Given the description of an element on the screen output the (x, y) to click on. 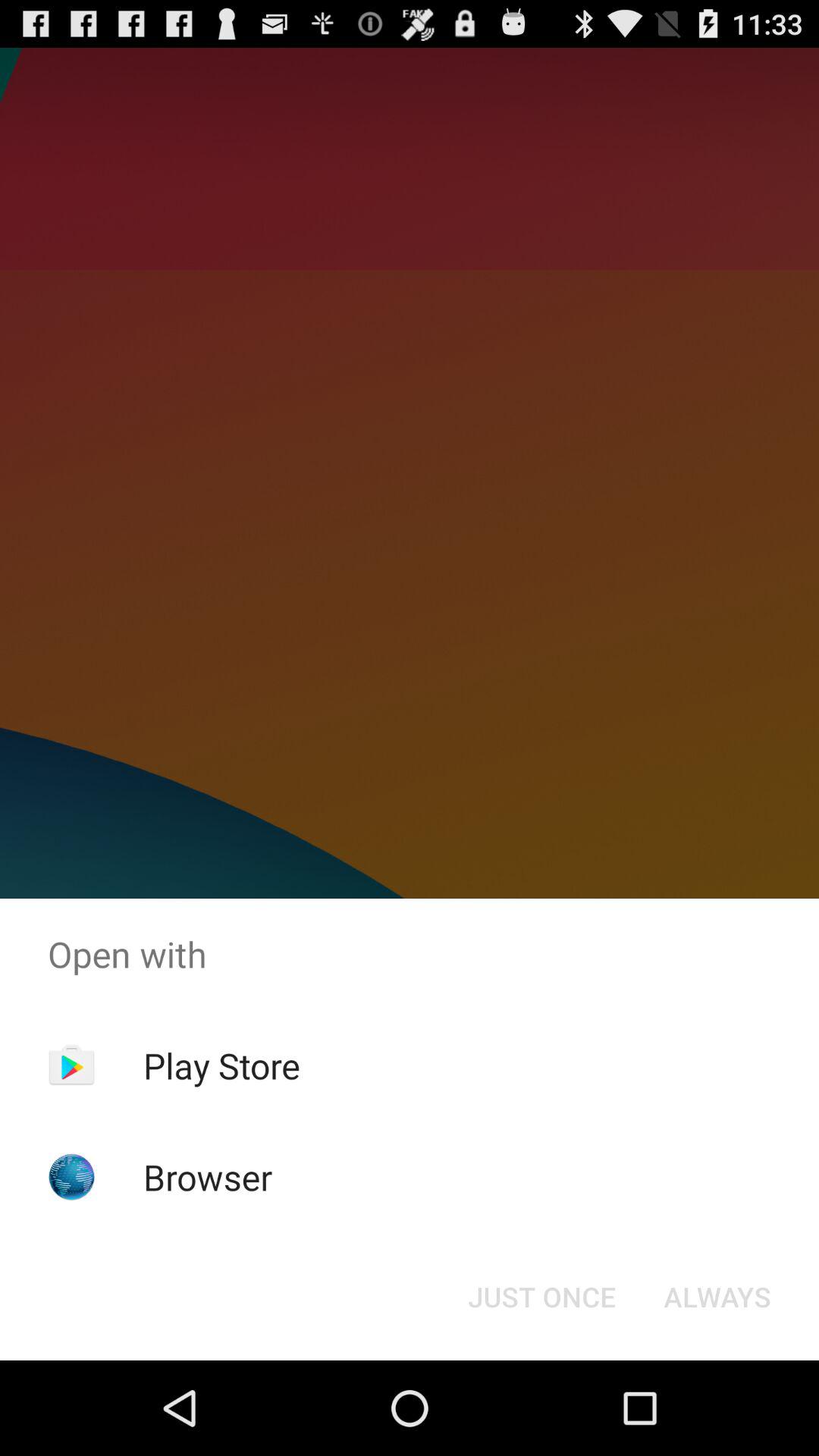
tap always button (717, 1296)
